Given the description of an element on the screen output the (x, y) to click on. 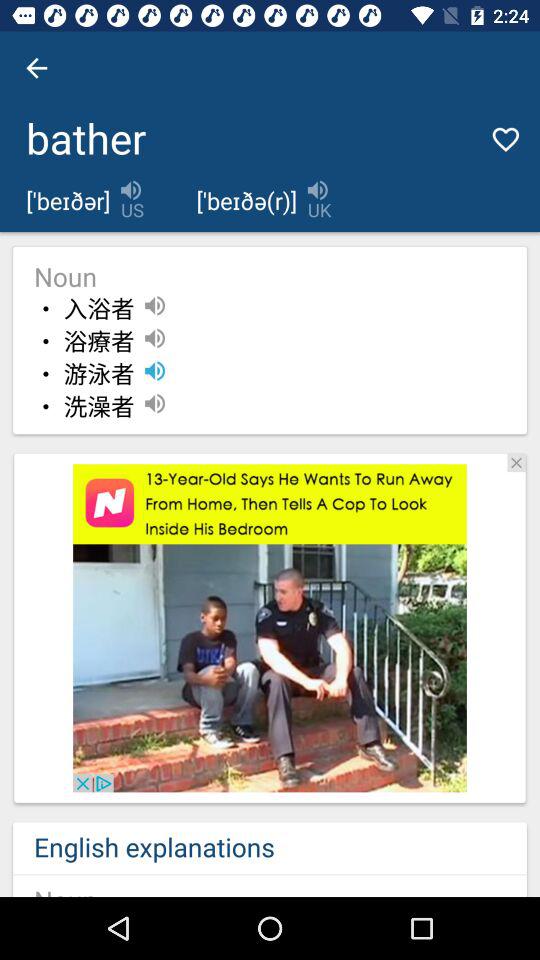
advert pop up (269, 628)
